Given the description of an element on the screen output the (x, y) to click on. 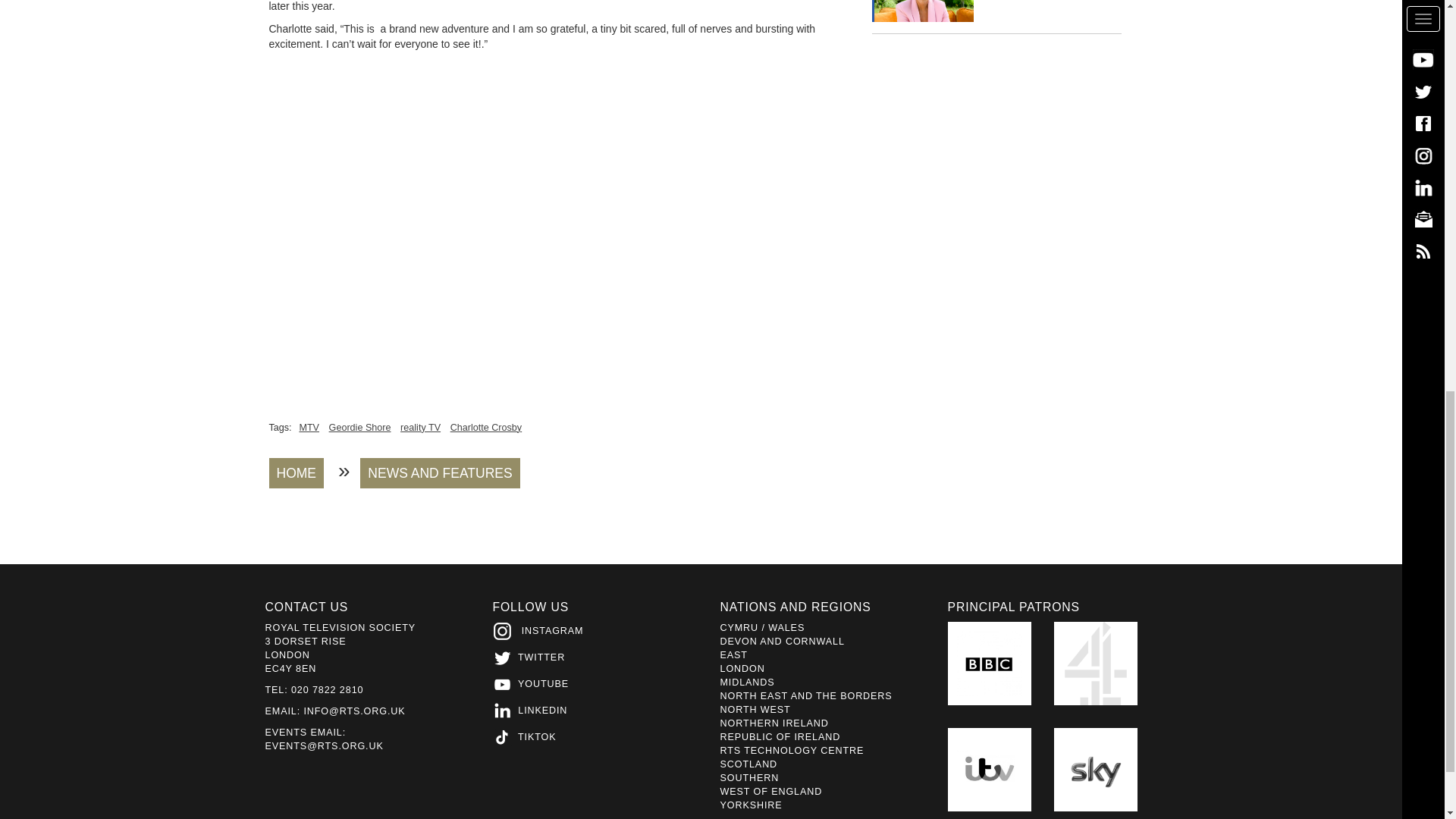
Credit: ITV (923, 10)
